Given the description of an element on the screen output the (x, y) to click on. 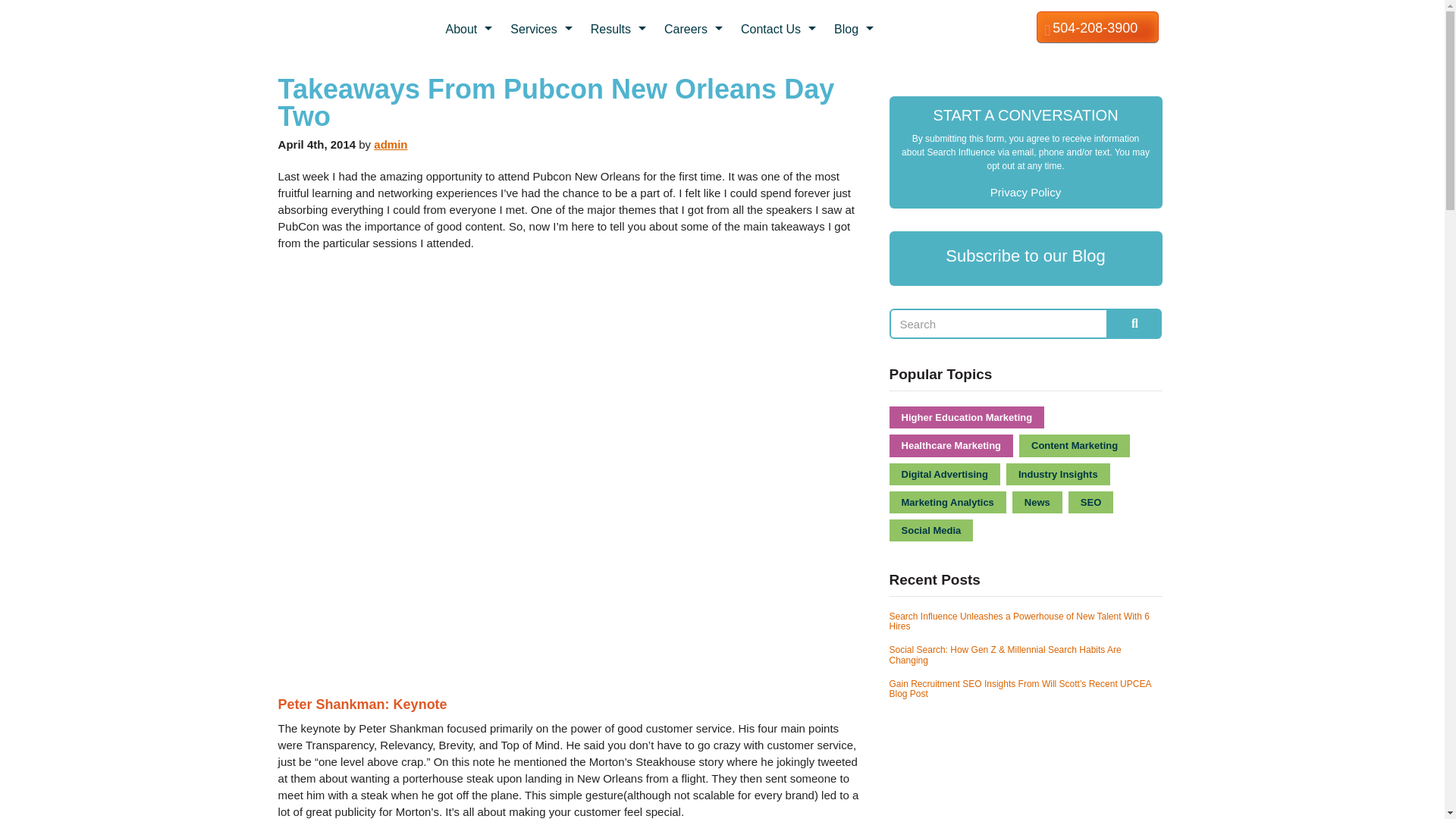
Results (620, 29)
Blog (856, 29)
Search (998, 323)
Careers (695, 29)
Contact Us (780, 29)
Services (543, 29)
About (470, 29)
